Given the description of an element on the screen output the (x, y) to click on. 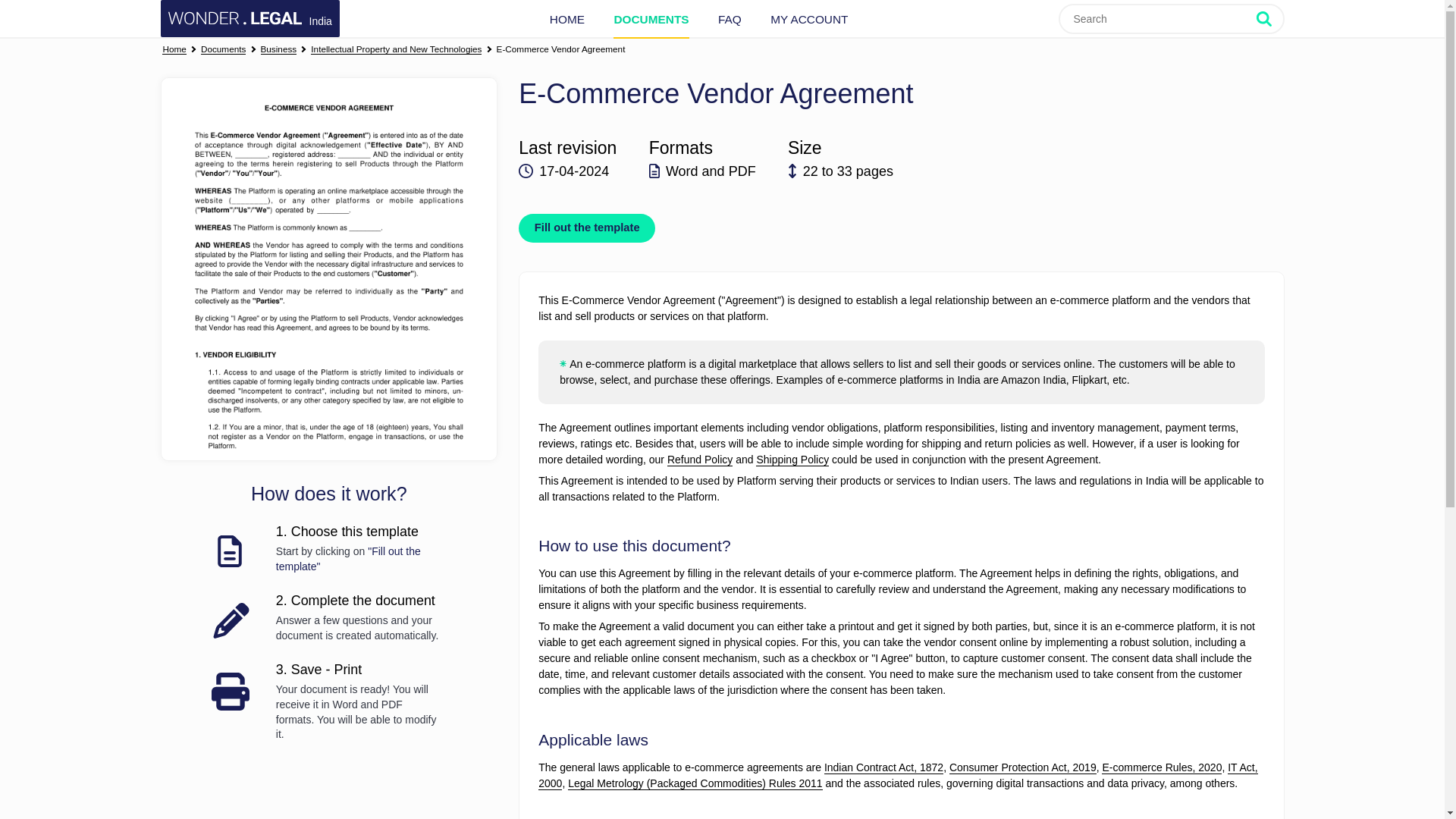
"Fill out the template" (348, 558)
FAQ (729, 19)
Refund Policy (699, 459)
IT Act, 2000 (897, 775)
DOCUMENTS (650, 19)
Search (1268, 18)
Wonder.Legal India (249, 18)
Intellectual Property and New Technologies (396, 49)
Business (278, 49)
Home (173, 49)
E-Commerce Vendor Agreement (561, 49)
Shipping Policy (791, 459)
E-commerce Rules, 2020 (1161, 767)
Get started for free (328, 268)
Indian Contract Act, 1872 (883, 767)
